Given the description of an element on the screen output the (x, y) to click on. 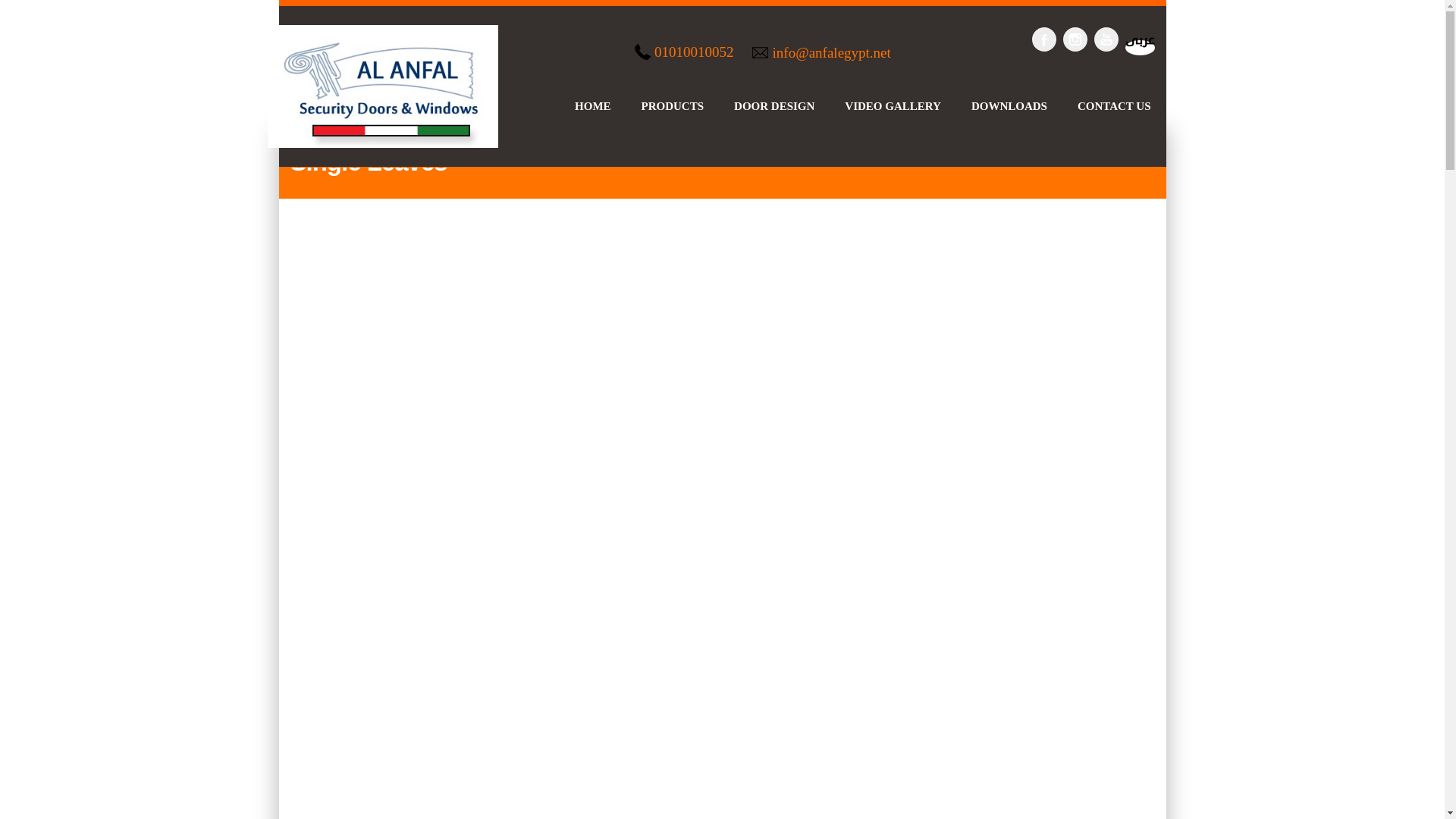
VIDEO GALLERY (892, 105)
DOWNLOADS (1008, 105)
PRODUCTS (673, 105)
CONTACT US (1114, 105)
AL Anfal (381, 86)
DOOR DESIGN (773, 105)
HOME (593, 105)
